Given the description of an element on the screen output the (x, y) to click on. 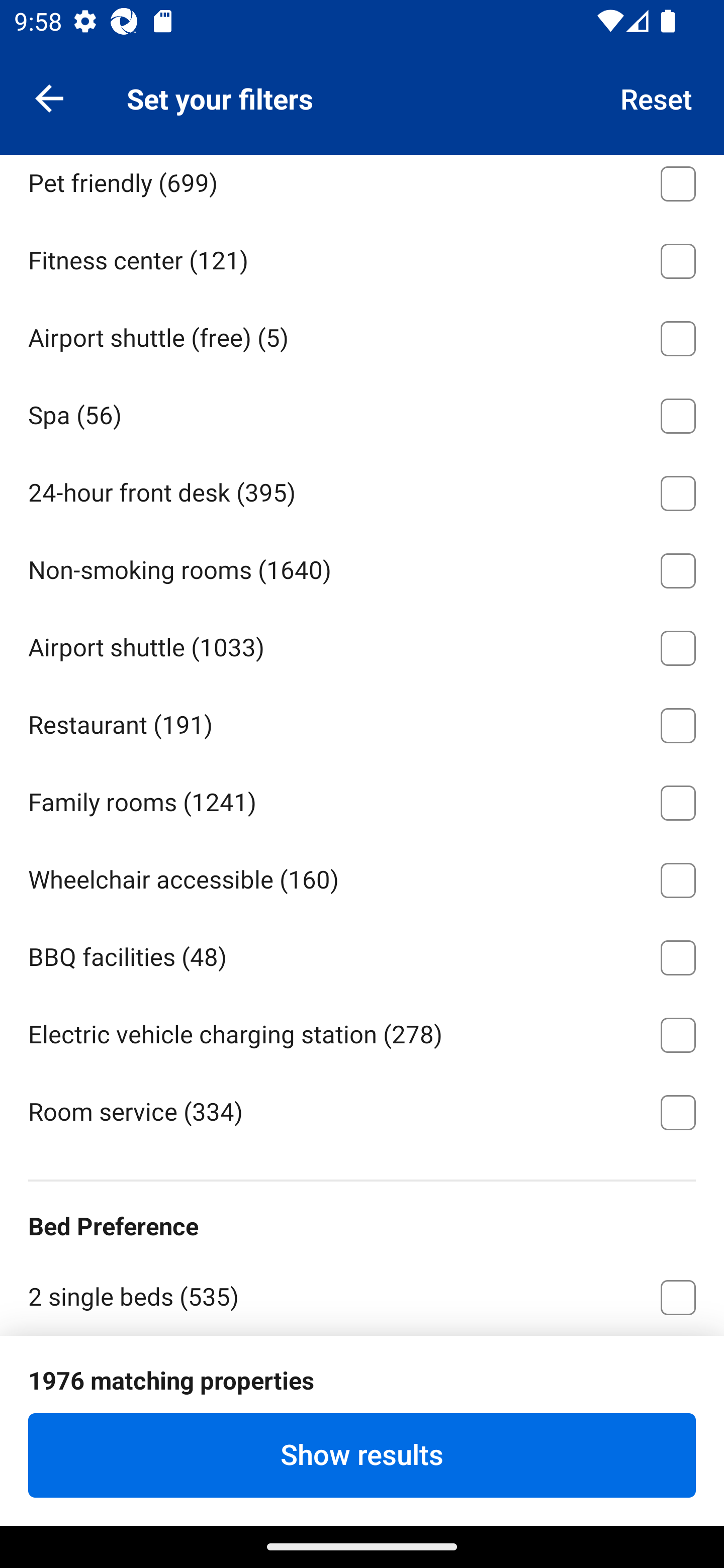
Navigate up (49, 97)
Reset (656, 97)
Free WiFi ⁦(1927) (361, 102)
Pet friendly ⁦(699) (361, 187)
Fitness center ⁦(121) (361, 257)
Airport shuttle (free) ⁦(5) (361, 334)
Spa ⁦(56) (361, 412)
24-hour front desk ⁦(395) (361, 489)
Non-smoking rooms ⁦(1640) (361, 567)
Airport shuttle ⁦(1033) (361, 644)
Restaurant ⁦(191) (361, 721)
Family rooms ⁦(1241) (361, 799)
Wheelchair accessible ⁦(160) (361, 876)
BBQ facilities ⁦(48) (361, 953)
Electric vehicle charging station ⁦(278) (361, 1031)
Room service ⁦(334) (361, 1110)
2 single beds ⁦(535) (361, 1293)
Show results (361, 1454)
